Given the description of an element on the screen output the (x, y) to click on. 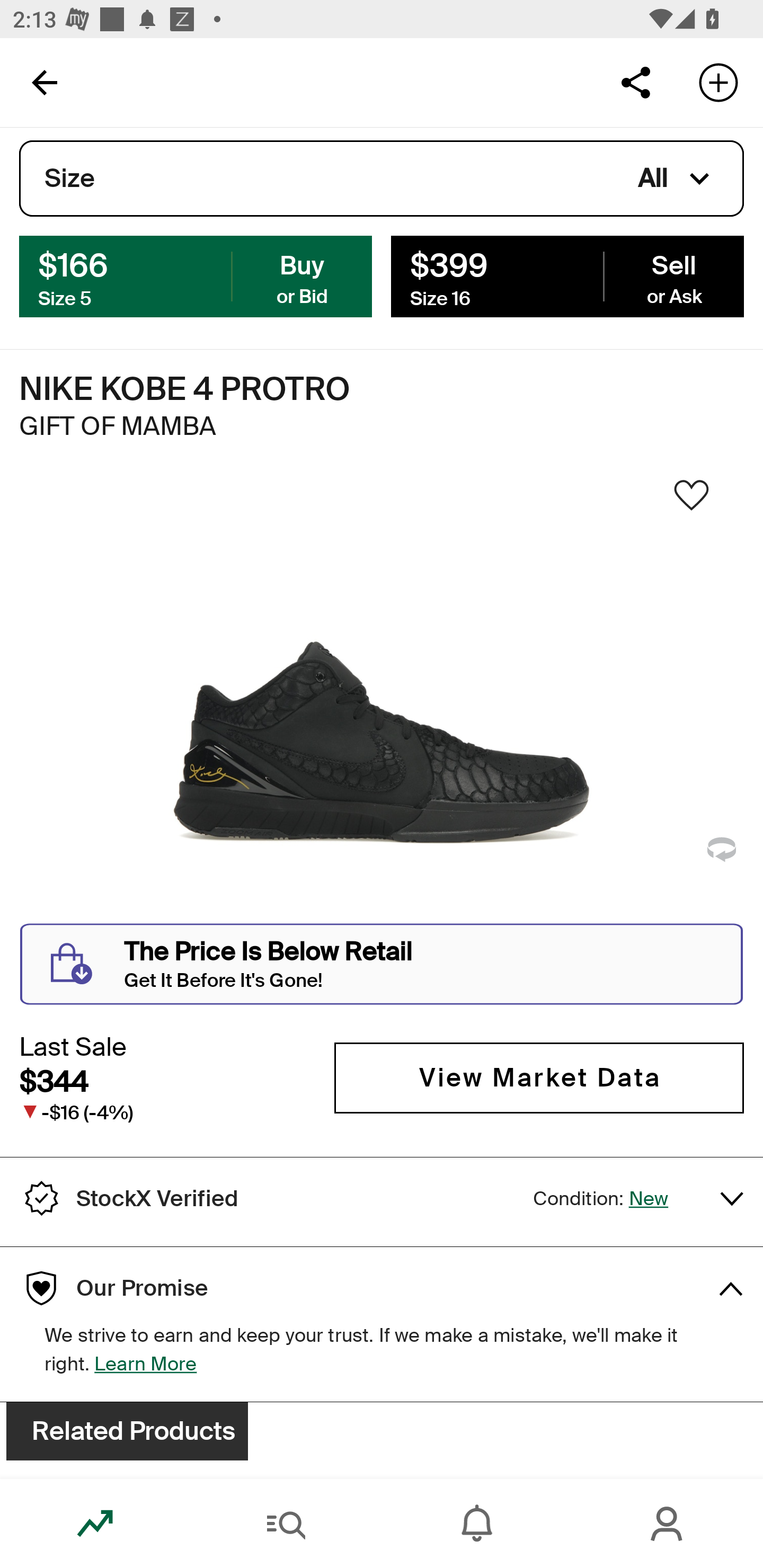
Share (635, 81)
Add (718, 81)
Size All (381, 178)
$166 Buy Size 5 or Bid (195, 275)
$399 Sell Size 16 or Ask (566, 275)
Sneaker Image (381, 699)
View Market Data (538, 1077)
Search (285, 1523)
Inbox (476, 1523)
Account (667, 1523)
